Given the description of an element on the screen output the (x, y) to click on. 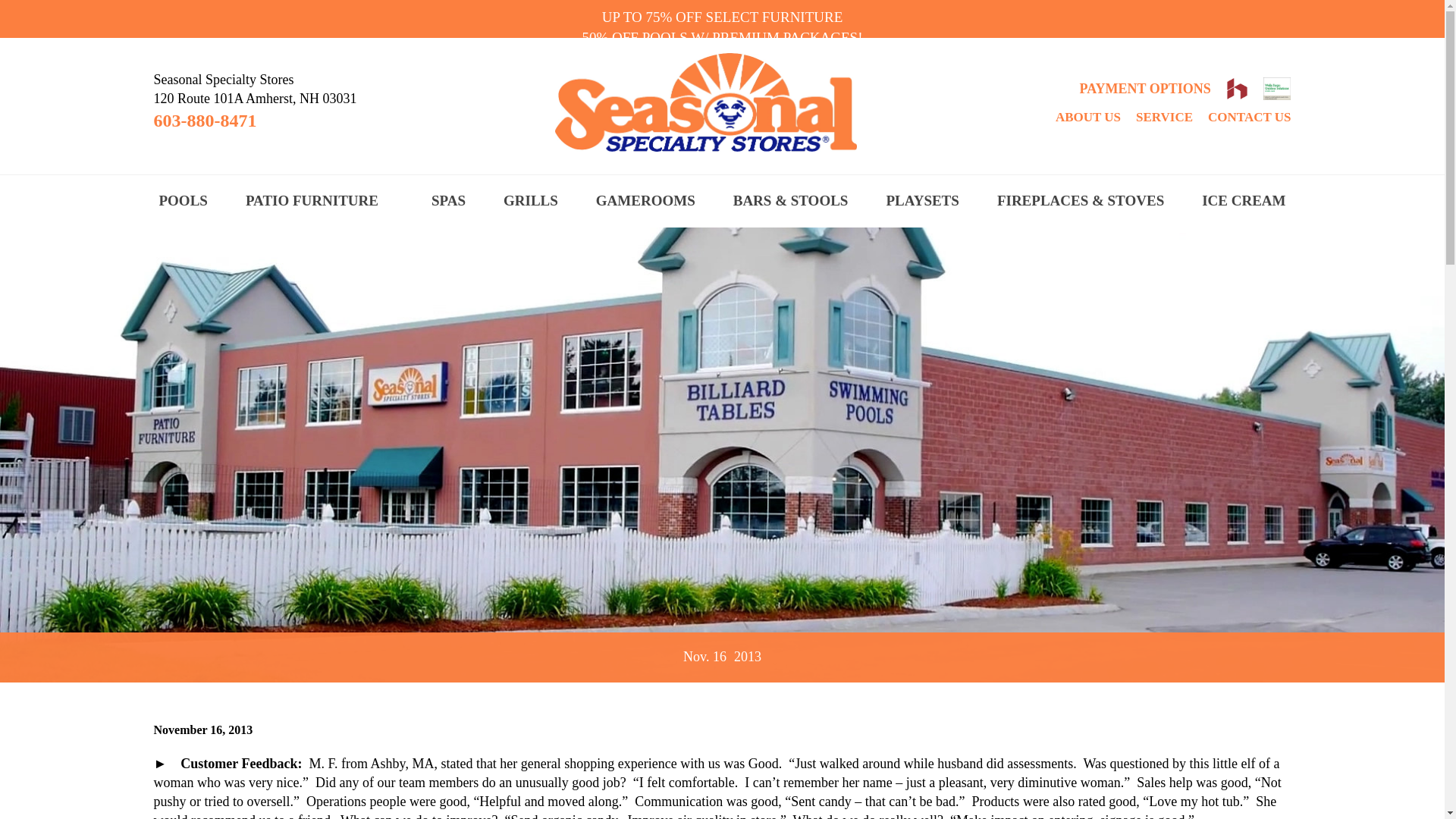
GRILLS (530, 201)
PLAYSETS (921, 201)
POOLS (182, 201)
ABOUT US (1088, 116)
GAMEROOMS (645, 201)
ICE CREAM (1243, 201)
SERVICE (1163, 116)
PATIO FURNITURE (312, 201)
SPAS (447, 201)
CONTACT US (1249, 116)
603-880-8471 (204, 121)
